Given the description of an element on the screen output the (x, y) to click on. 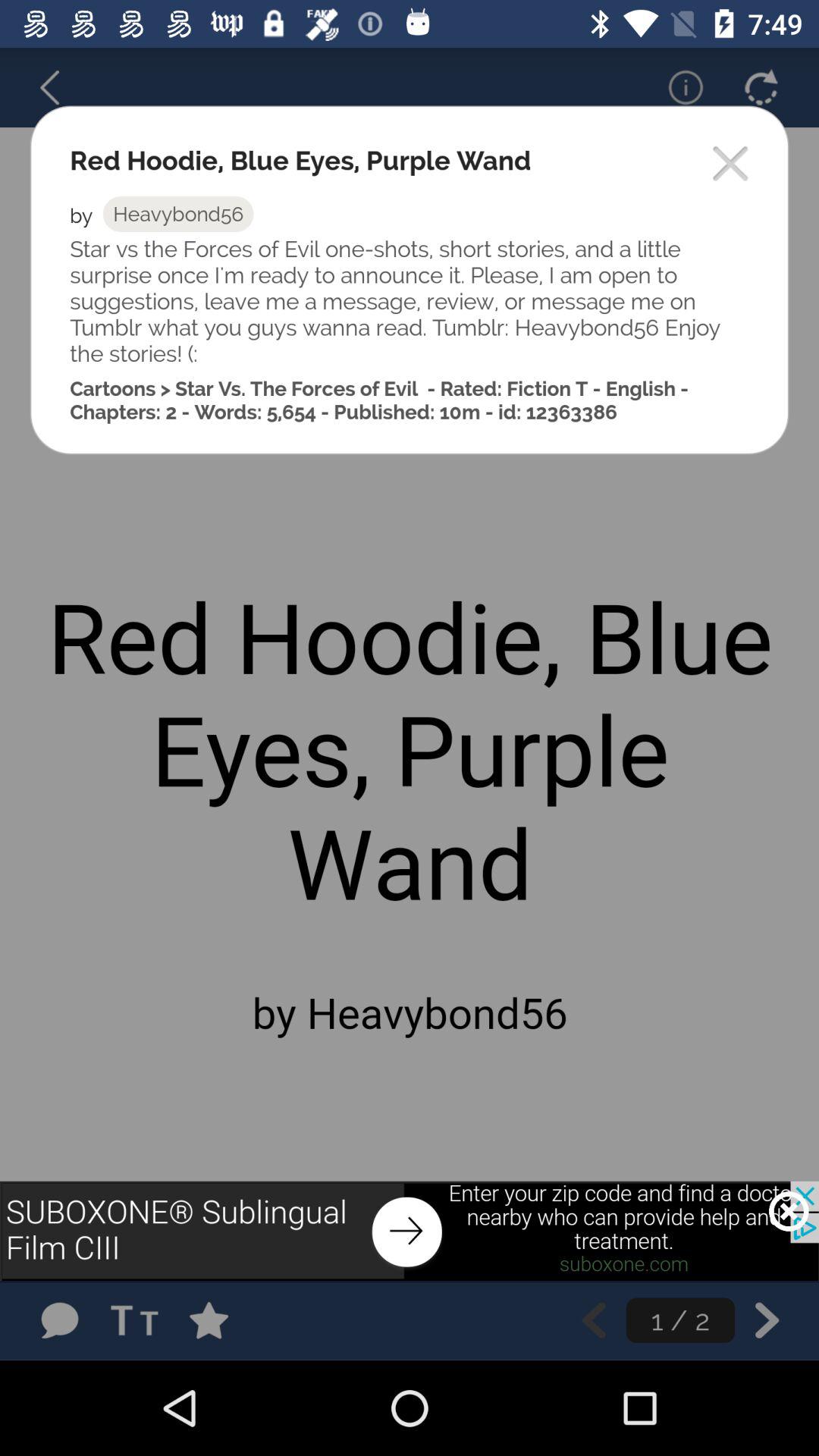
comment (59, 1320)
